Given the description of an element on the screen output the (x, y) to click on. 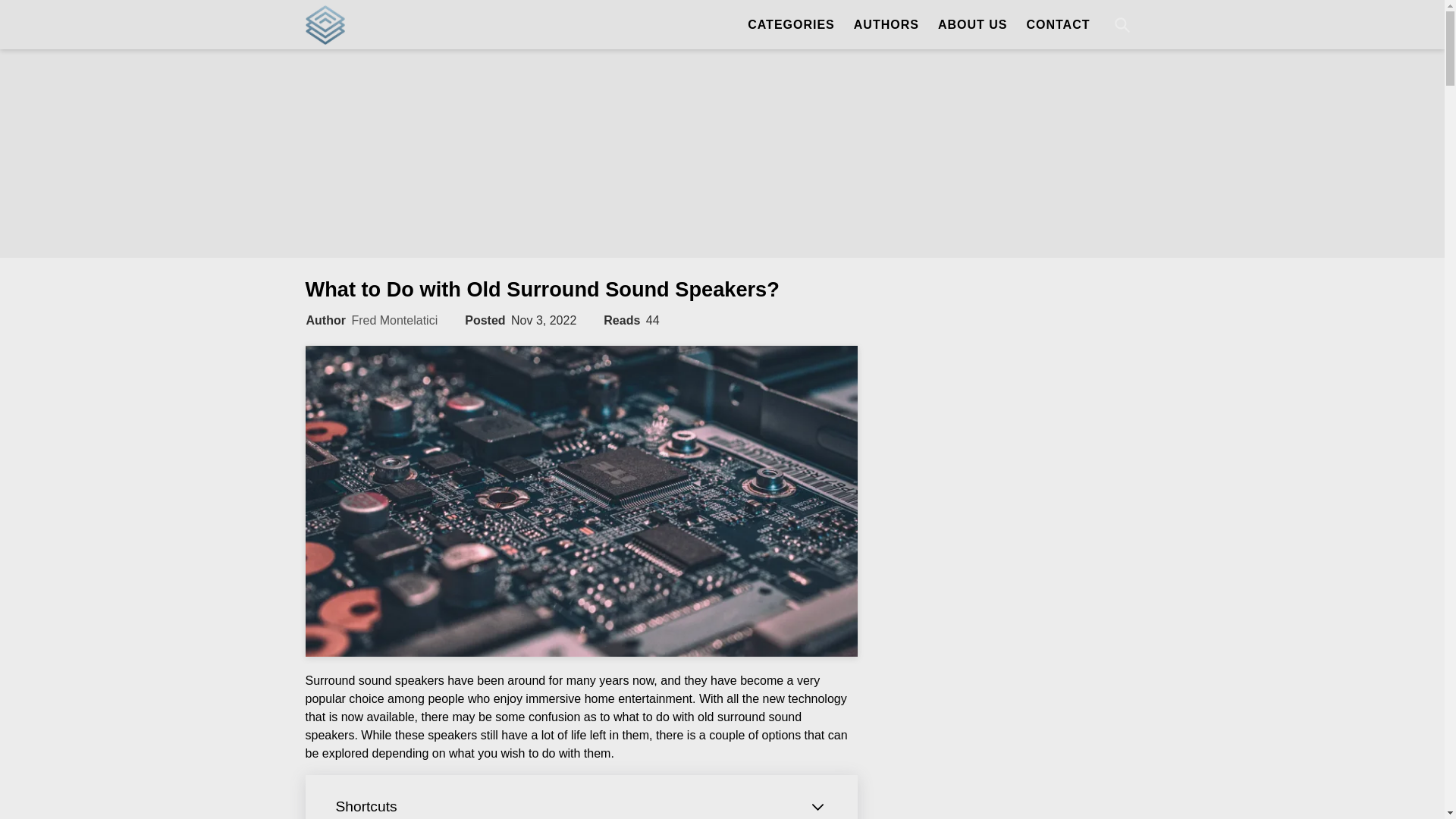
ABOUT US (972, 24)
CATEGORIES (783, 24)
CONTACT (1057, 24)
AUTHORS (885, 24)
Fred Montelatici (394, 319)
